Given the description of an element on the screen output the (x, y) to click on. 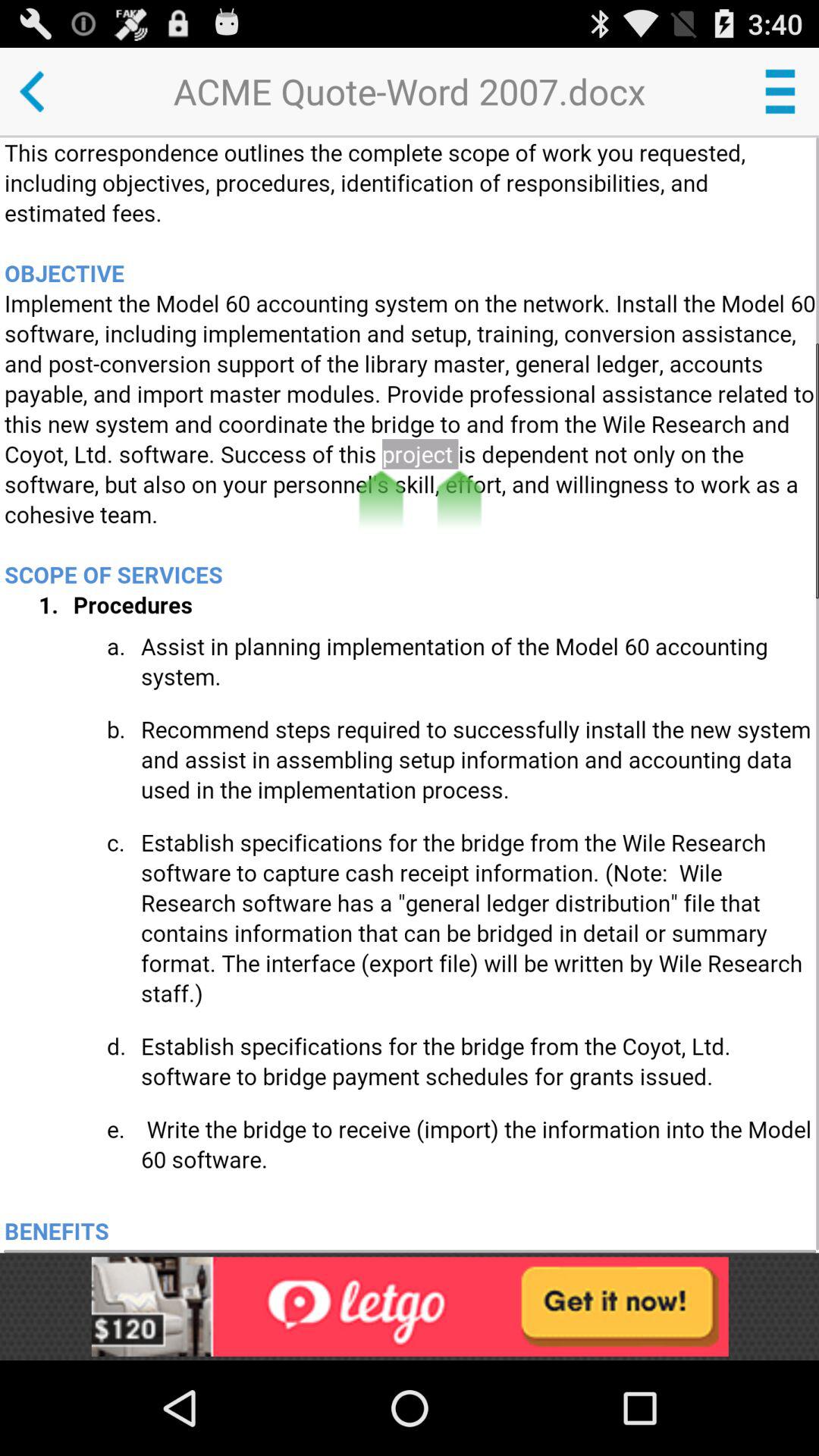
document page (411, 694)
